Given the description of an element on the screen output the (x, y) to click on. 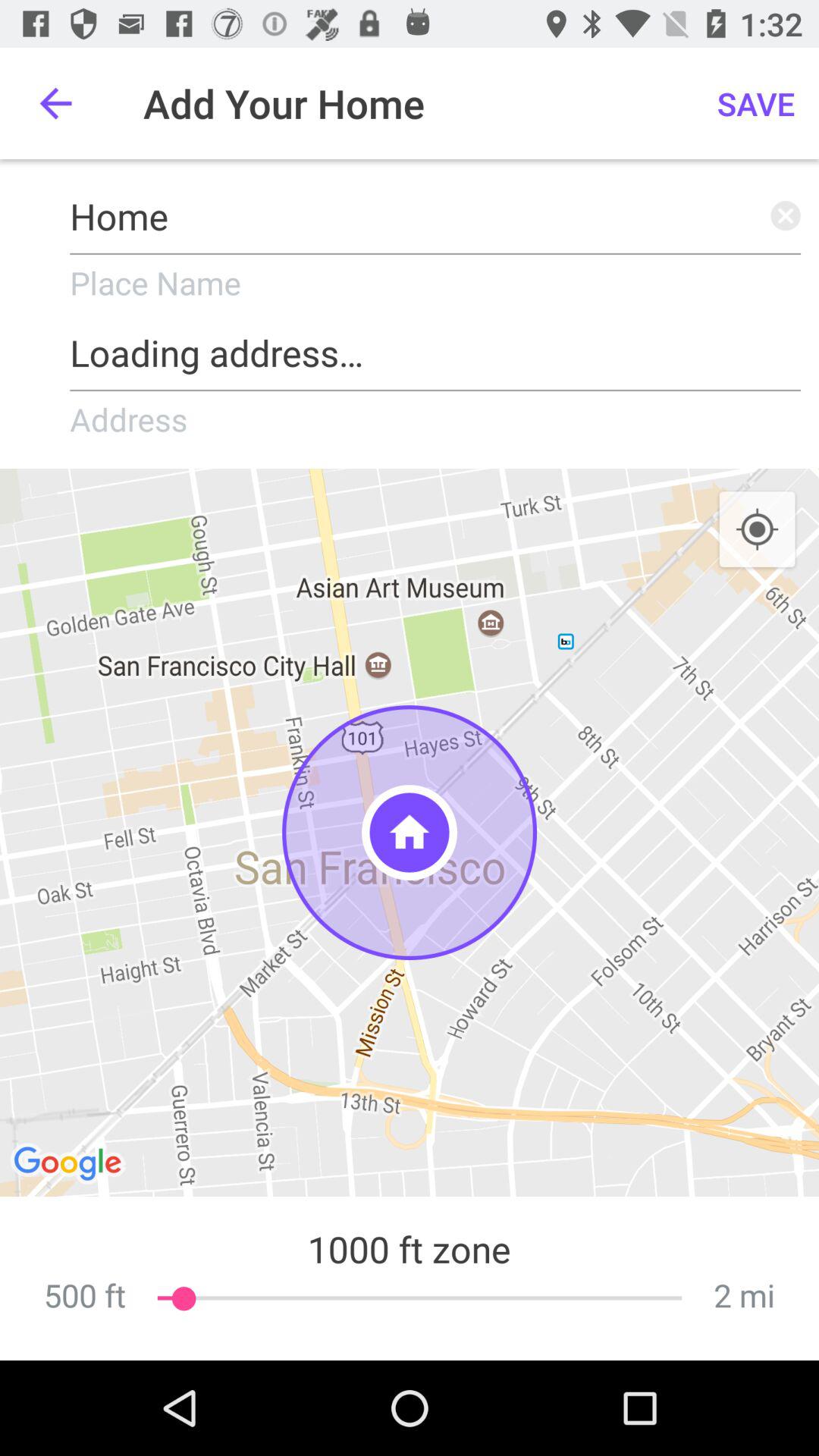
tap the icon next to the add your home (55, 103)
